Given the description of an element on the screen output the (x, y) to click on. 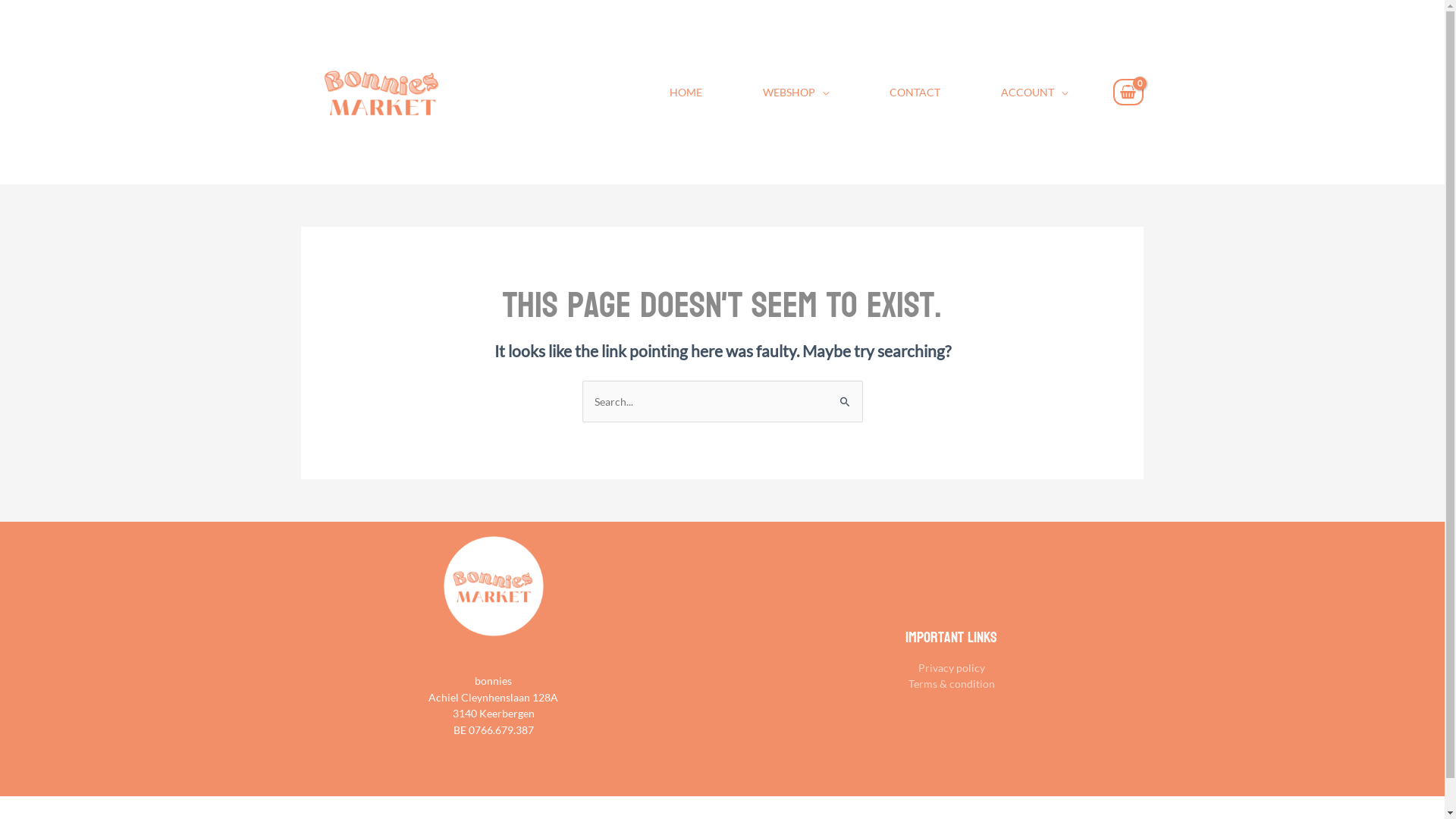
ACCOUNT Element type: text (1034, 91)
Privacy policy Element type: text (950, 667)
HOME Element type: text (685, 91)
CONTACT Element type: text (914, 91)
Search Element type: text (845, 395)
Terms & condition Element type: text (951, 683)
WEBSHOP Element type: text (795, 91)
